Given the description of an element on the screen output the (x, y) to click on. 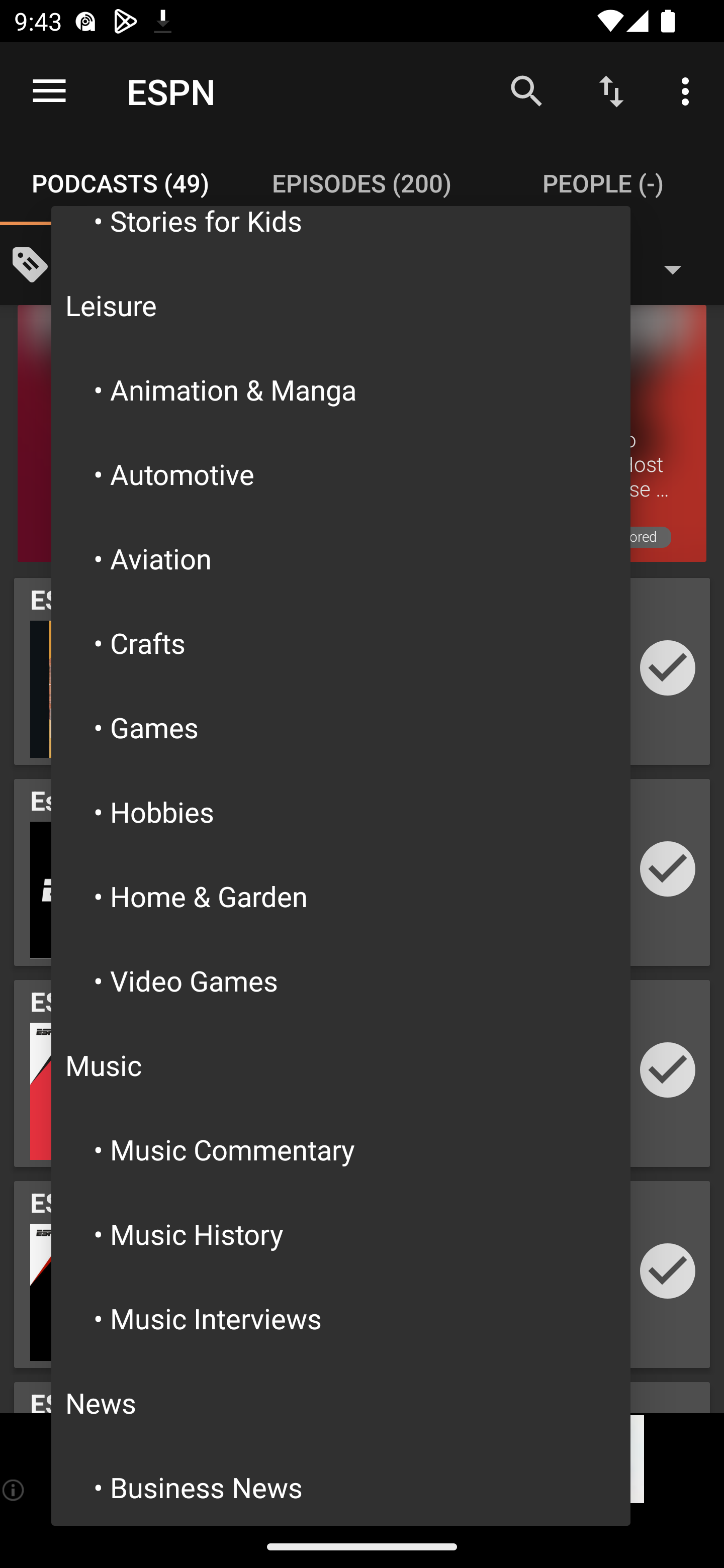
    • Stories for Kids (340, 234)
Leisure (340, 304)
    • Animation & Manga (340, 388)
    • Automotive (340, 473)
    • Aviation (340, 557)
    • Crafts (340, 642)
    • Games (340, 727)
    • Hobbies (340, 811)
    • Home & Garden (340, 895)
    • Video Games (340, 979)
Music (340, 1064)
    • Music Commentary (340, 1149)
    • Music History (340, 1233)
    • Music Interviews (340, 1318)
News (340, 1402)
    • Business News (340, 1484)
